Given the description of an element on the screen output the (x, y) to click on. 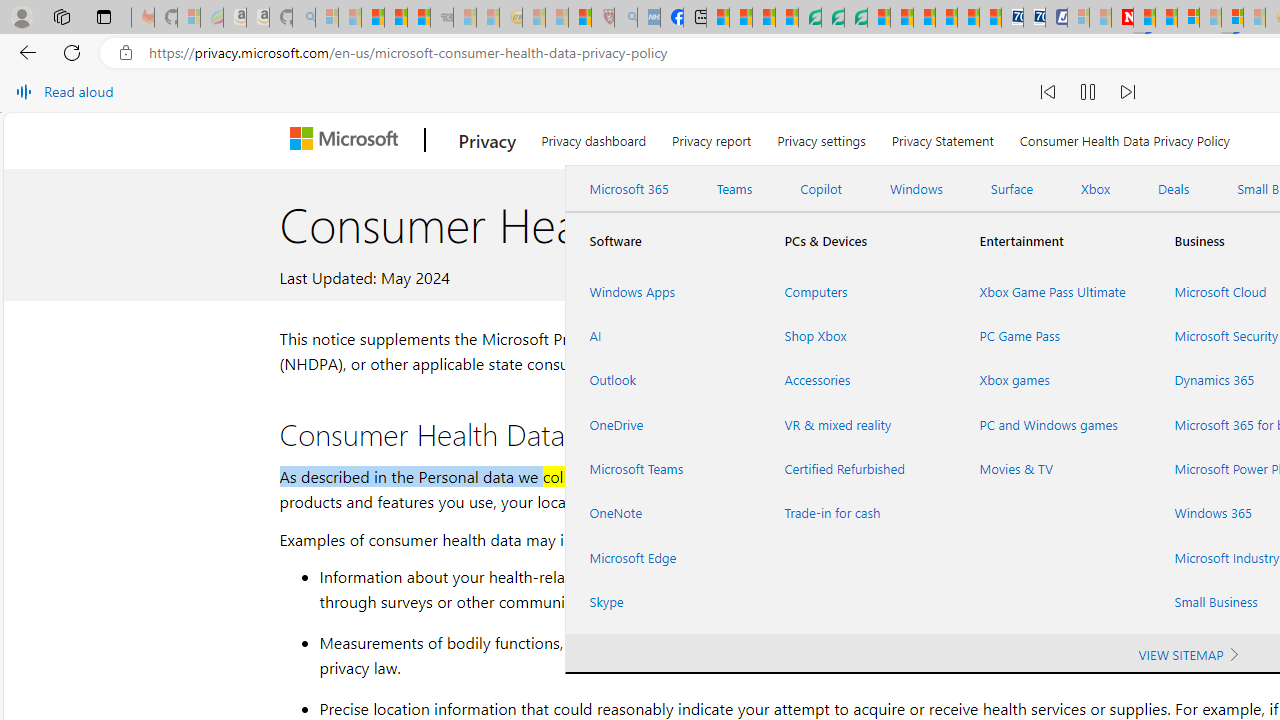
Privacy Statement (942, 137)
Privacy report (712, 137)
New Report Confirms 2023 Was Record Hot | Watch (419, 17)
Terms of Use Agreement (832, 17)
Read previous paragraph (1047, 92)
Xbox Game Pass Ultimate (1052, 291)
Movies & TV (1052, 468)
Xbox (1095, 189)
World - MSN (763, 17)
Privacy settings (821, 137)
